Given the description of an element on the screen output the (x, y) to click on. 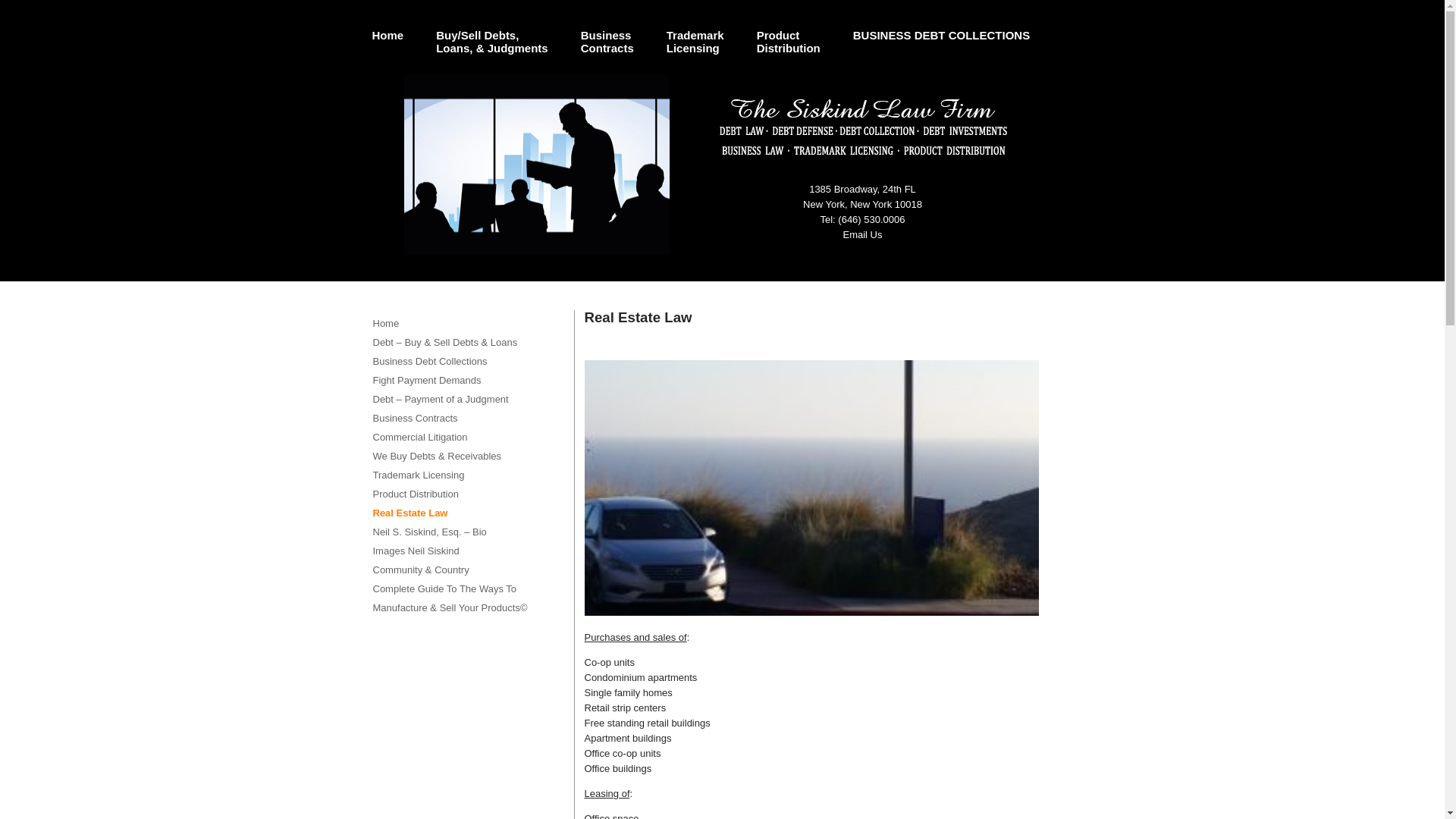
Trademark Licensing (783, 51)
BUSINESS DEBT COLLECTIONS (690, 51)
Home (464, 475)
Fight Payment Demands (936, 51)
Business Contracts (464, 322)
Images Neil Siskind (464, 380)
Email The Siskind Law Firm (464, 417)
Home (464, 550)
Email Us (862, 234)
Real Estate Law (382, 51)
Product Distribution (862, 234)
Commercial Litigation (464, 512)
